Given the description of an element on the screen output the (x, y) to click on. 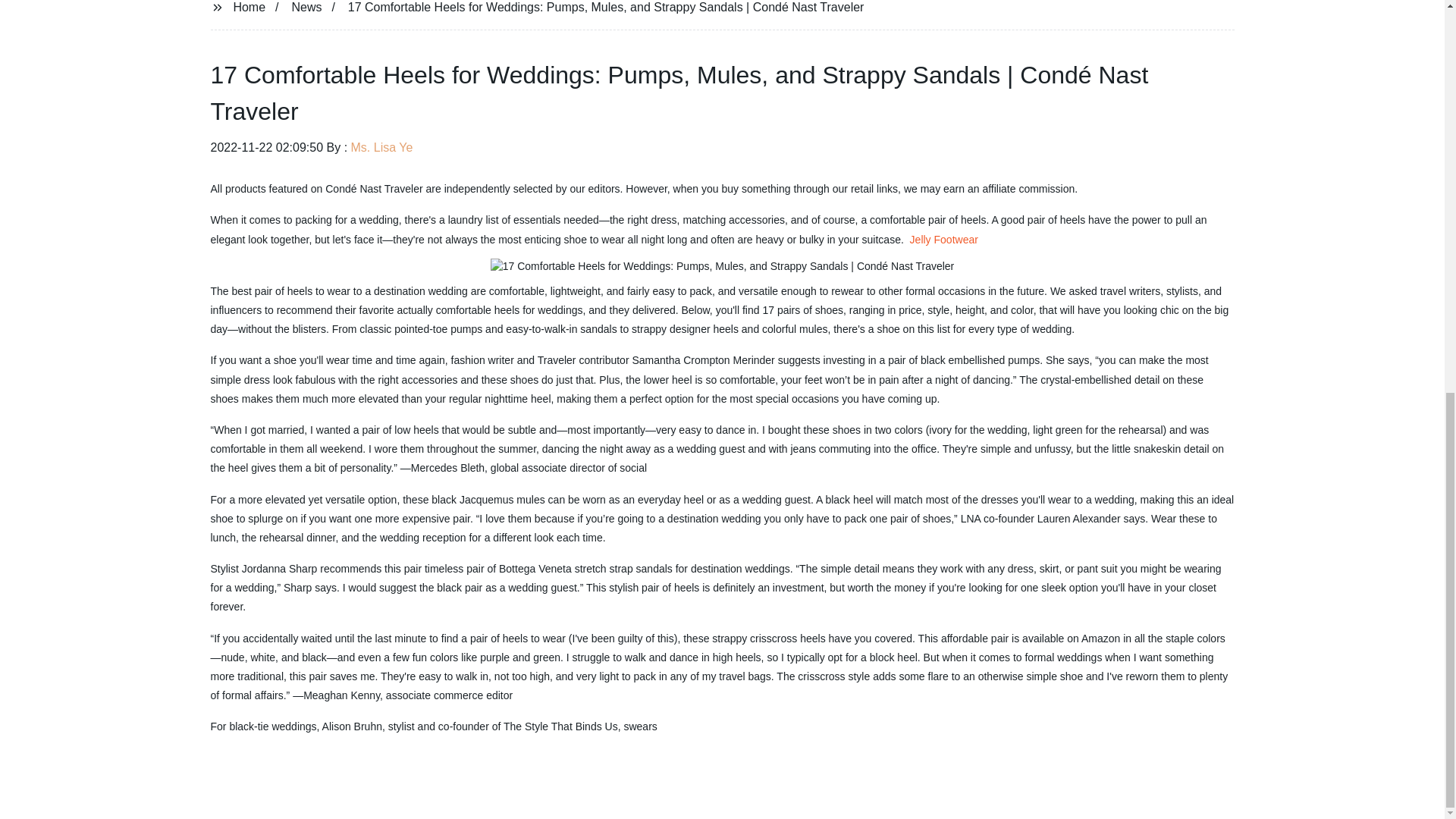
Home (248, 6)
Jelly Footwear (944, 239)
News (306, 6)
